Given the description of an element on the screen output the (x, y) to click on. 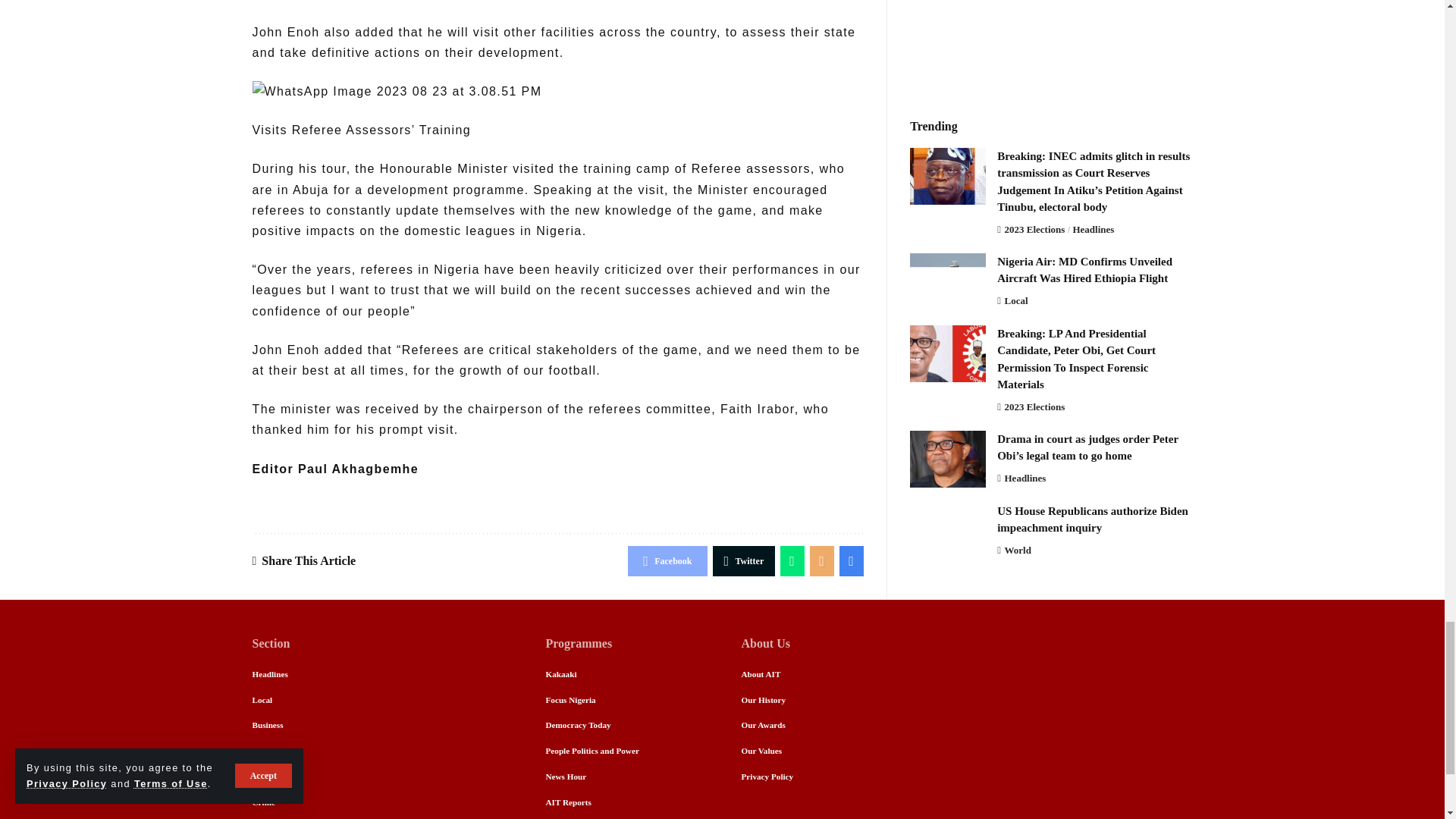
Facebook (666, 561)
Twitter (744, 561)
WhatsApp Image 2023 08 23 at 3.08.51 PM (396, 91)
